Given the description of an element on the screen output the (x, y) to click on. 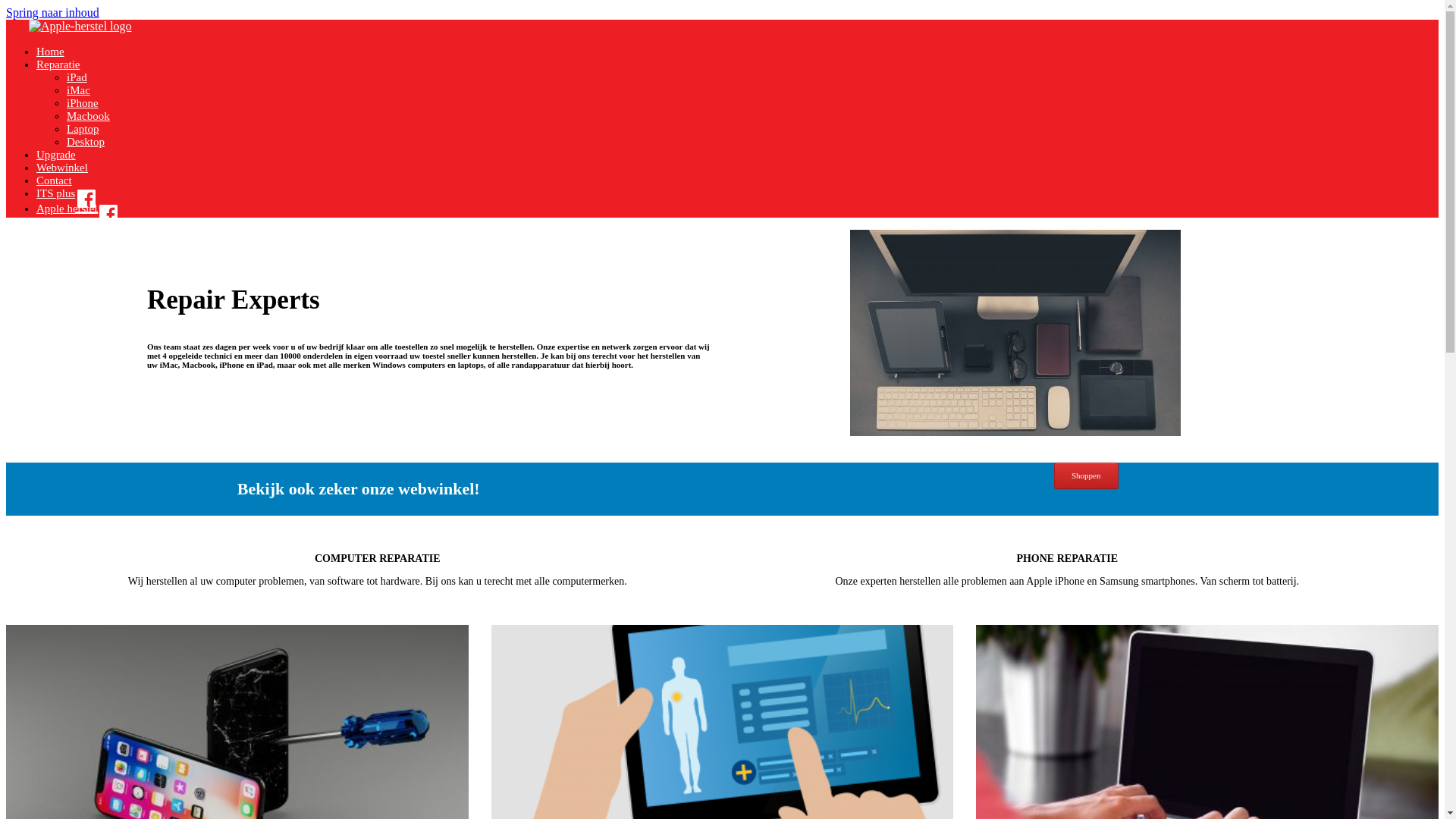
Macbook Element type: text (87, 115)
Desktop Element type: text (85, 141)
Webwinkel Element type: text (61, 167)
Upgrade Element type: text (55, 154)
iPad Element type: text (76, 77)
Contact Element type: text (54, 180)
ITS plus Element type: text (63, 193)
Apple herstel Element type: text (74, 208)
iPhone Element type: text (82, 103)
Reparatie Element type: text (57, 64)
Home Element type: text (50, 51)
Spring naar inhoud Element type: text (52, 12)
Apple-herstel Element type: hover (79, 25)
Laptop Element type: text (82, 128)
iMac Element type: text (78, 90)
Shoppen Element type: text (1086, 475)
